Given the description of an element on the screen output the (x, y) to click on. 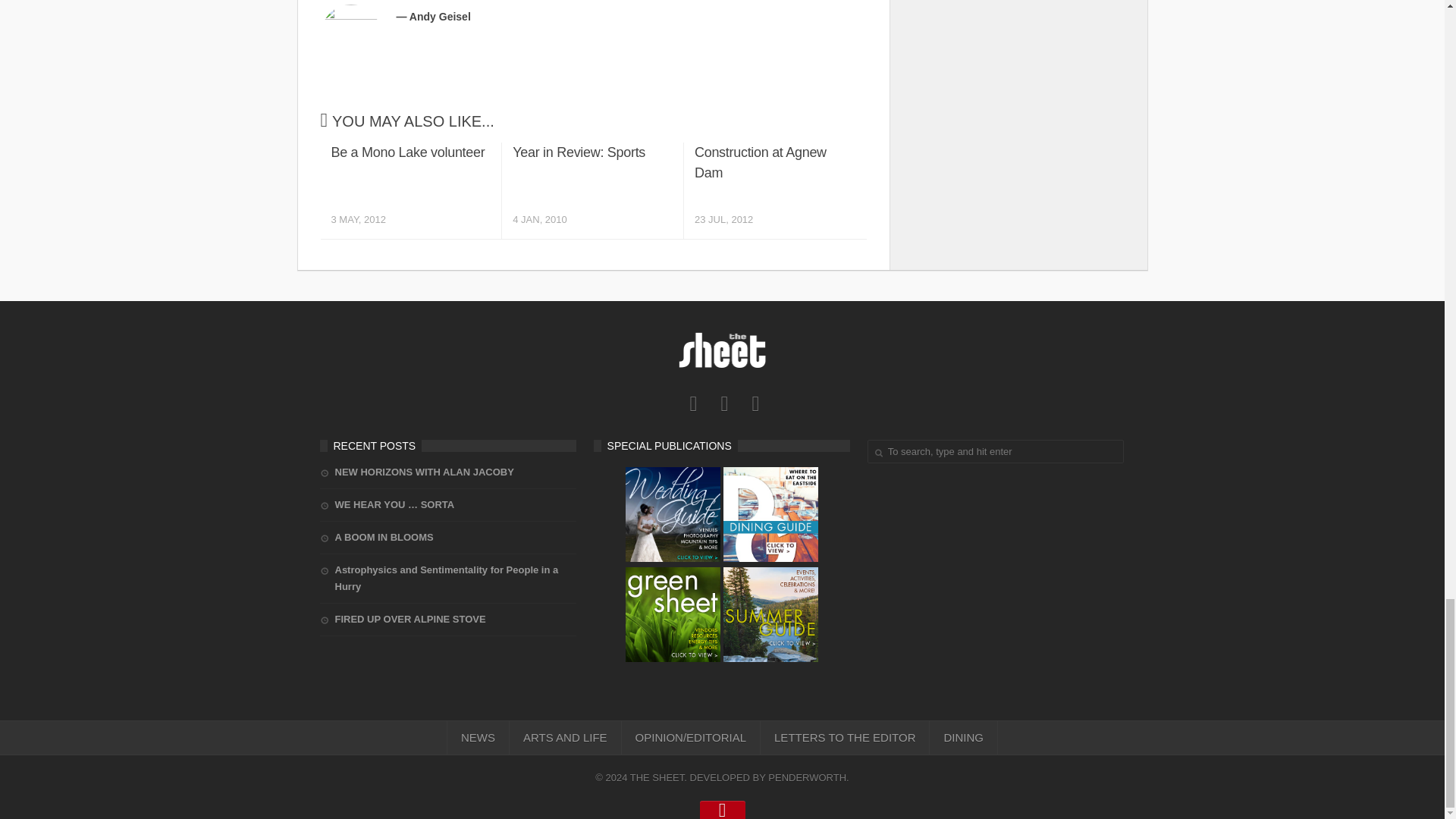
NEW HORIZONS WITH ALAN JACOBY (416, 472)
FIRED UP OVER ALPINE STOVE (403, 619)
The Sheet on Facebook (774, 190)
A BOOM IN BLOOMS (692, 403)
Astrophysics and Sentimentality for People in a Hurry (376, 537)
To search, type and hit enter (410, 190)
RSS feed (592, 190)
To search, type and hit enter (448, 578)
Follow The Sheet on Twitter (995, 451)
